Given the description of an element on the screen output the (x, y) to click on. 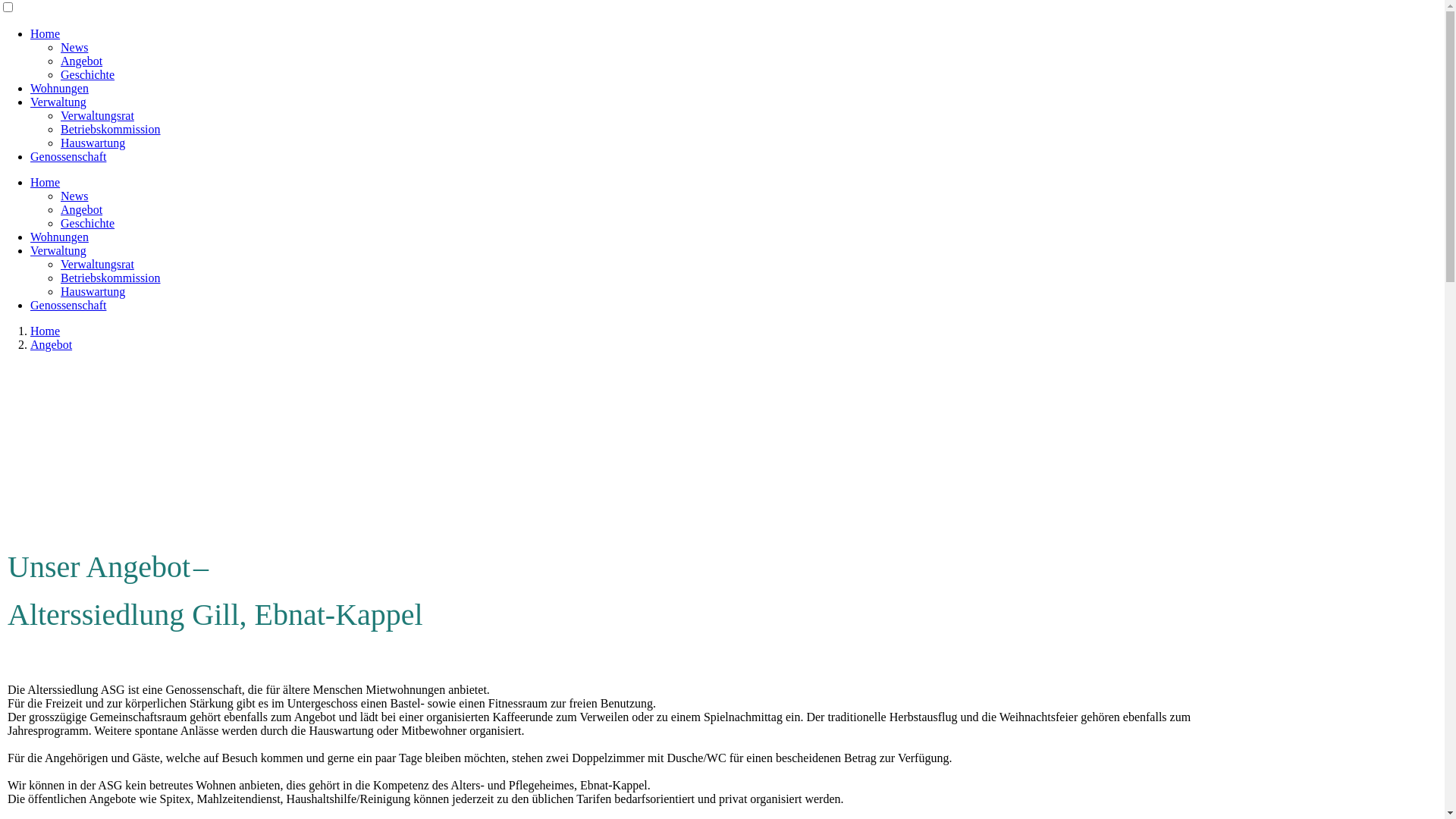
Home Element type: text (44, 181)
Betriebskommission Element type: text (110, 128)
Home Element type: text (44, 330)
Genossenschaft Element type: text (68, 156)
News Element type: text (73, 195)
Verwaltungsrat Element type: text (97, 115)
Wohnungen Element type: text (59, 87)
Angebot Element type: text (51, 344)
Geschichte Element type: text (87, 74)
Geschichte Element type: text (87, 222)
Genossenschaft Element type: text (68, 304)
Verwaltung Element type: text (58, 250)
News Element type: text (73, 46)
Verwaltungsrat Element type: text (97, 263)
Betriebskommission Element type: text (110, 277)
Hauswartung Element type: text (92, 291)
Verwaltung Element type: text (58, 101)
Angebot Element type: text (81, 209)
Angebot Element type: text (81, 60)
Wohnungen Element type: text (59, 236)
Home Element type: text (44, 33)
Hauswartung Element type: text (92, 142)
